Given the description of an element on the screen output the (x, y) to click on. 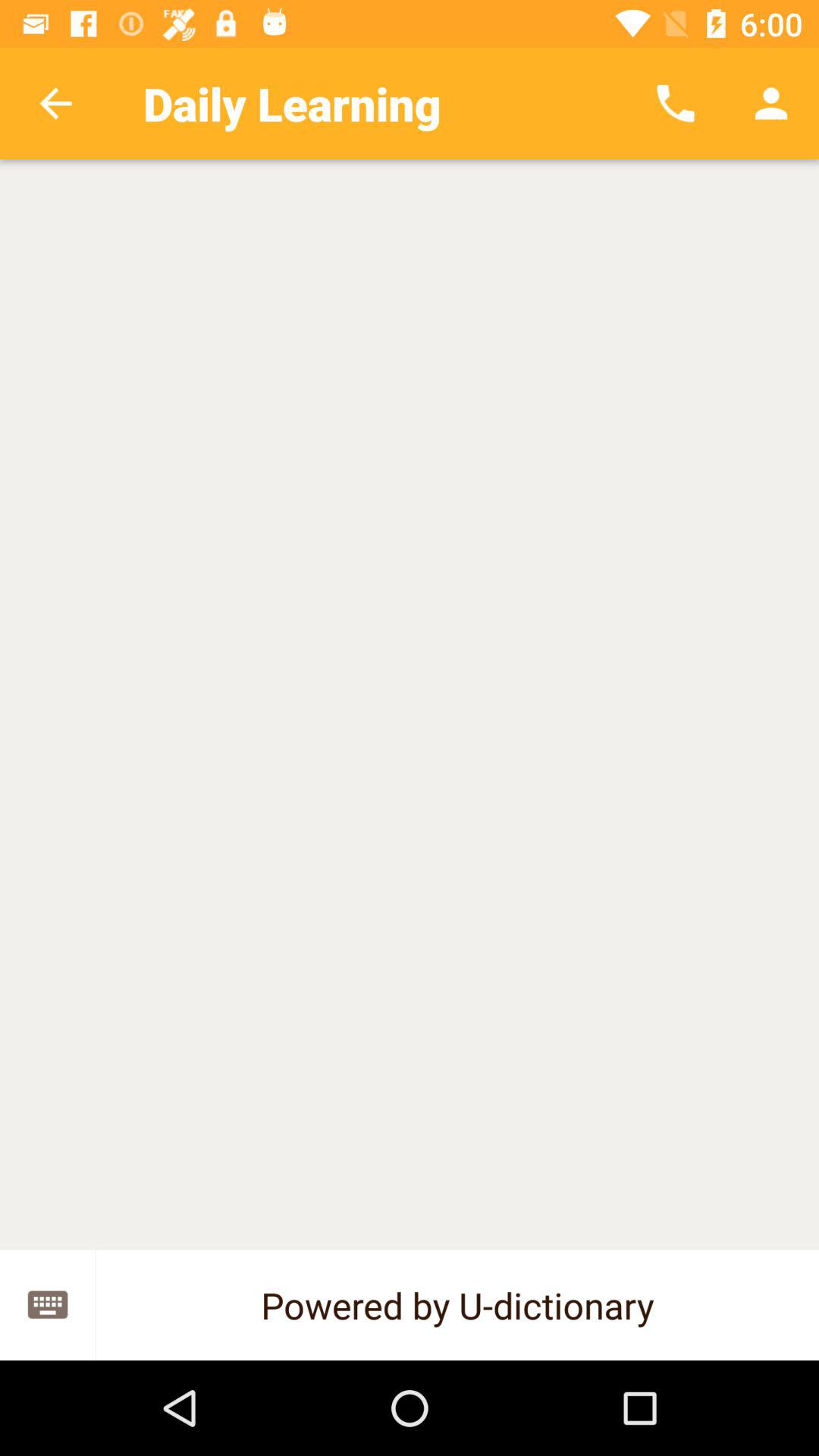
turn off the app next to daily learning (55, 103)
